Given the description of an element on the screen output the (x, y) to click on. 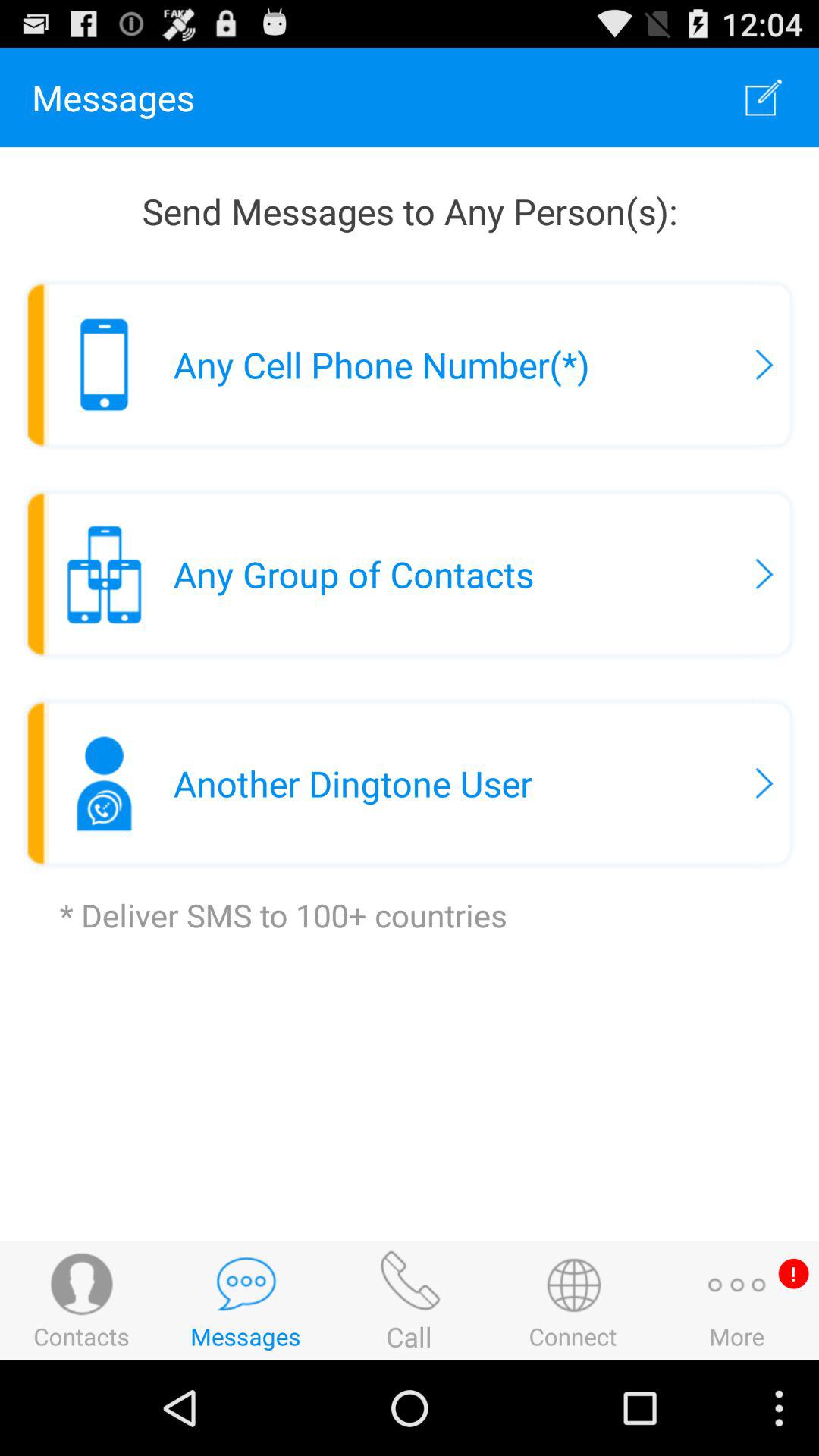
create a new message (763, 97)
